Given the description of an element on the screen output the (x, y) to click on. 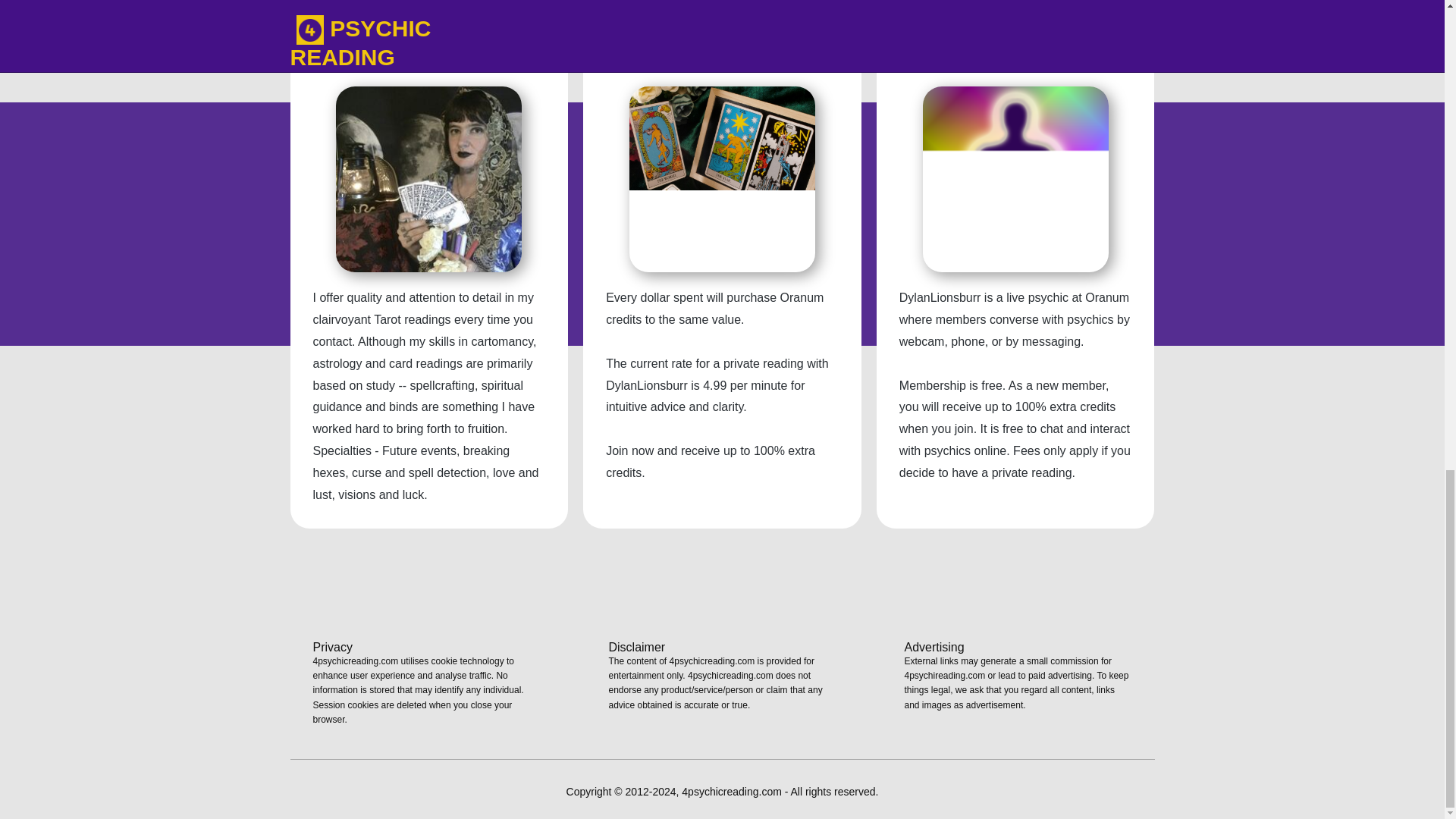
ORANUM PSYCHICS (1014, 59)
DYLANLIONSBURR SAYS (428, 59)
PRIVATE READINGS (721, 59)
